Given the description of an element on the screen output the (x, y) to click on. 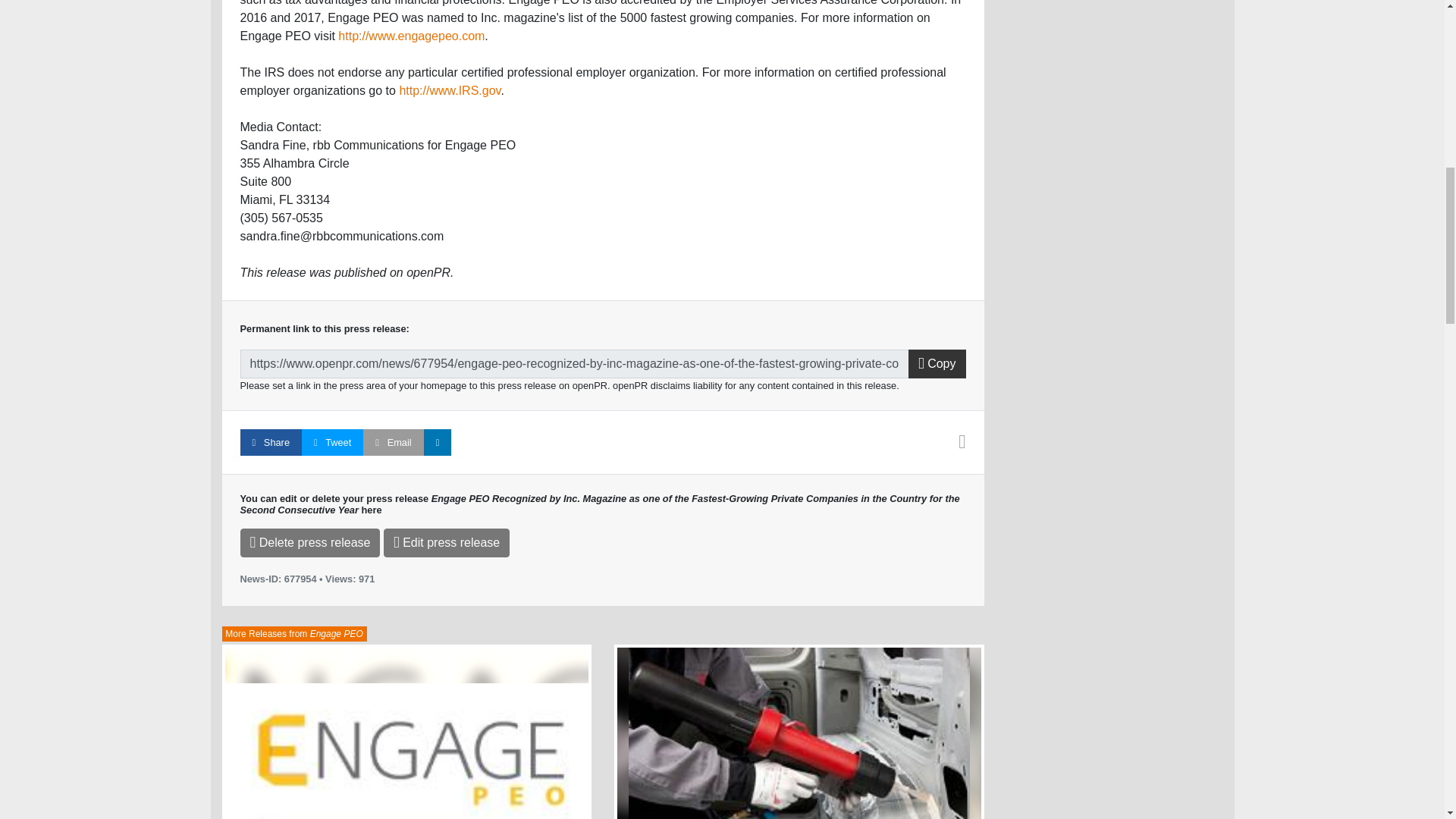
Permalink (574, 363)
LinkedIn (437, 442)
Email (392, 442)
Facebook (270, 442)
